Given the description of an element on the screen output the (x, y) to click on. 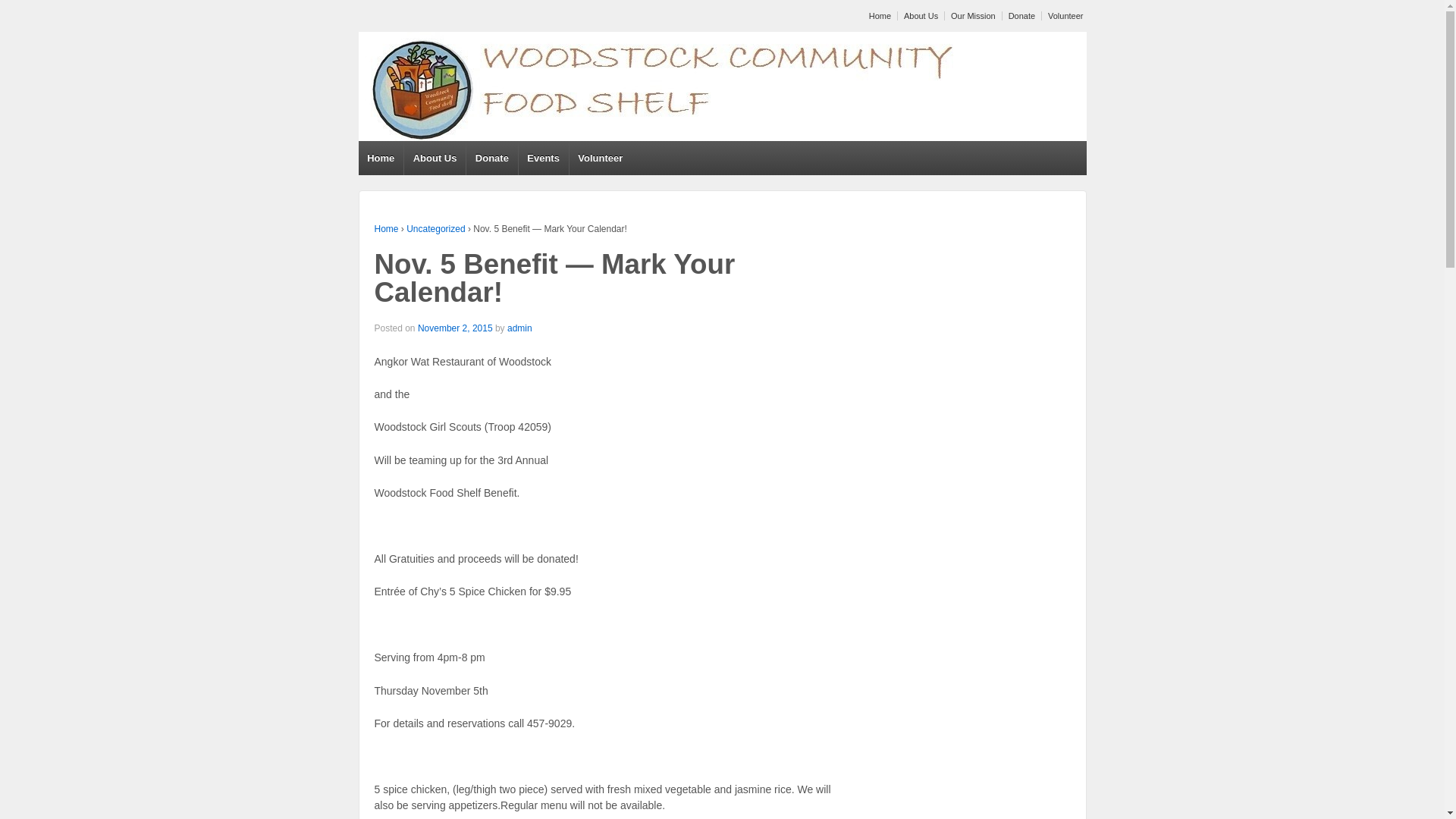
admin (519, 327)
Uncategorized (435, 228)
Volunteer (600, 157)
Our Mission (970, 15)
Volunteer (1063, 15)
Events (543, 157)
Donate (1019, 15)
Donate (490, 157)
Home (878, 15)
View all posts by admin (519, 327)
Home (386, 228)
About Us (918, 15)
12:20 am (455, 327)
About Us (434, 157)
Home (380, 157)
